Given the description of an element on the screen output the (x, y) to click on. 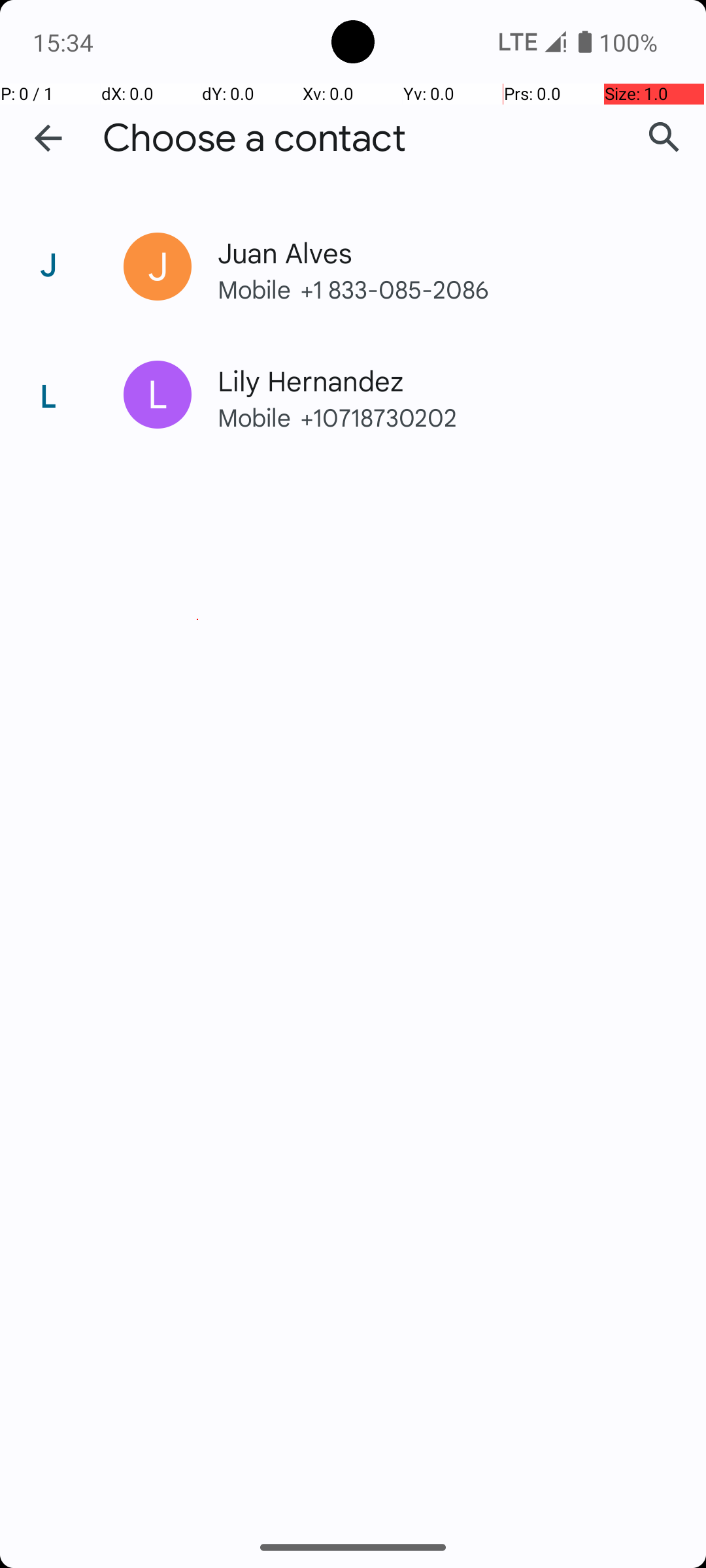
Choose a contact Element type: android.widget.TextView (253, 138)
Search contacts Element type: android.widget.Button (664, 137)
Juan Alves Element type: android.widget.TextView (434, 251)
+1 833-085-2086 Element type: android.widget.TextView (475, 288)
Lily Hernandez Element type: android.widget.TextView (434, 379)
+10718730202 Element type: android.widget.TextView (475, 416)
